Given the description of an element on the screen output the (x, y) to click on. 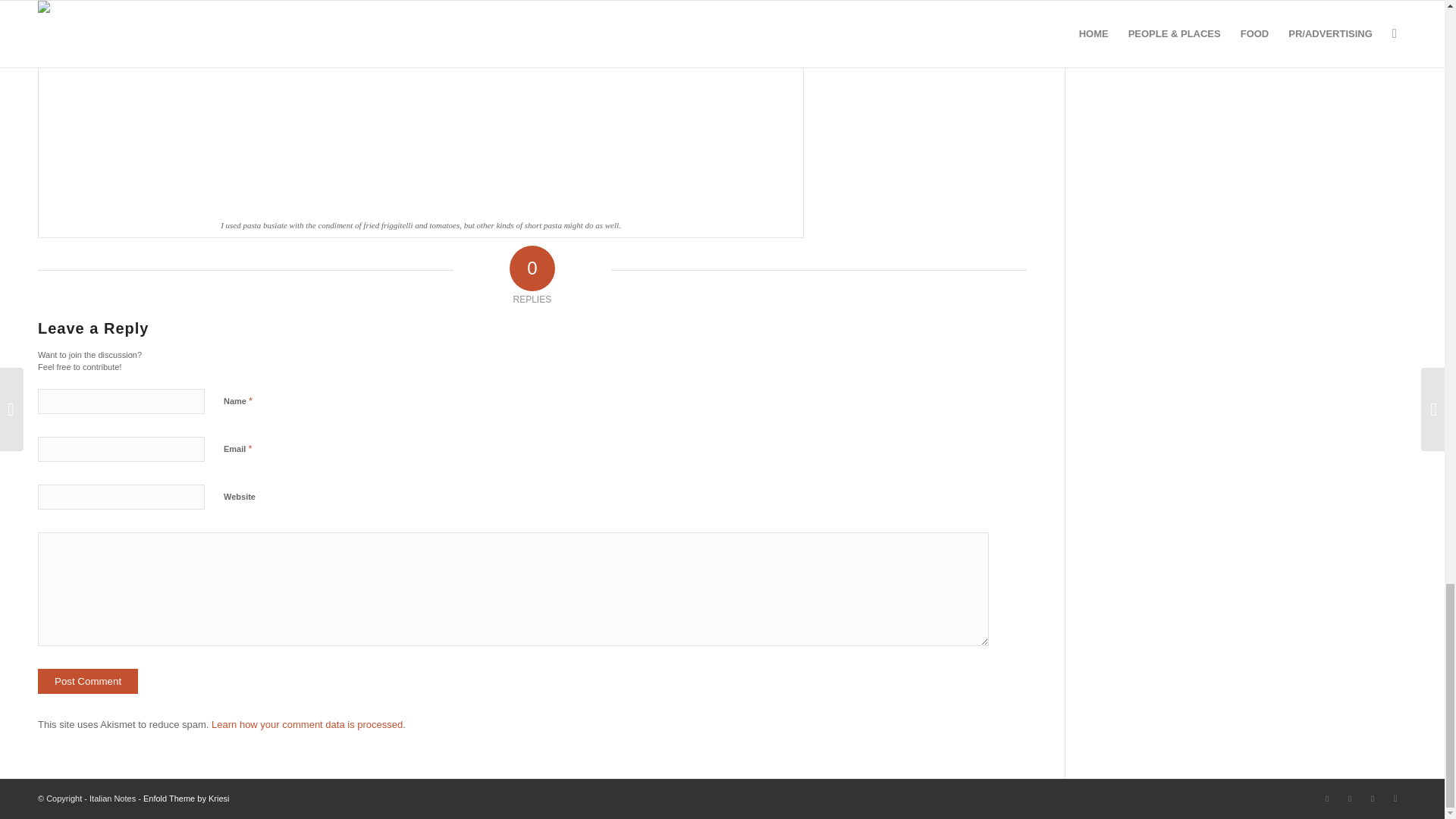
Advertisement (1216, 115)
Post Comment (87, 681)
